Given the description of an element on the screen output the (x, y) to click on. 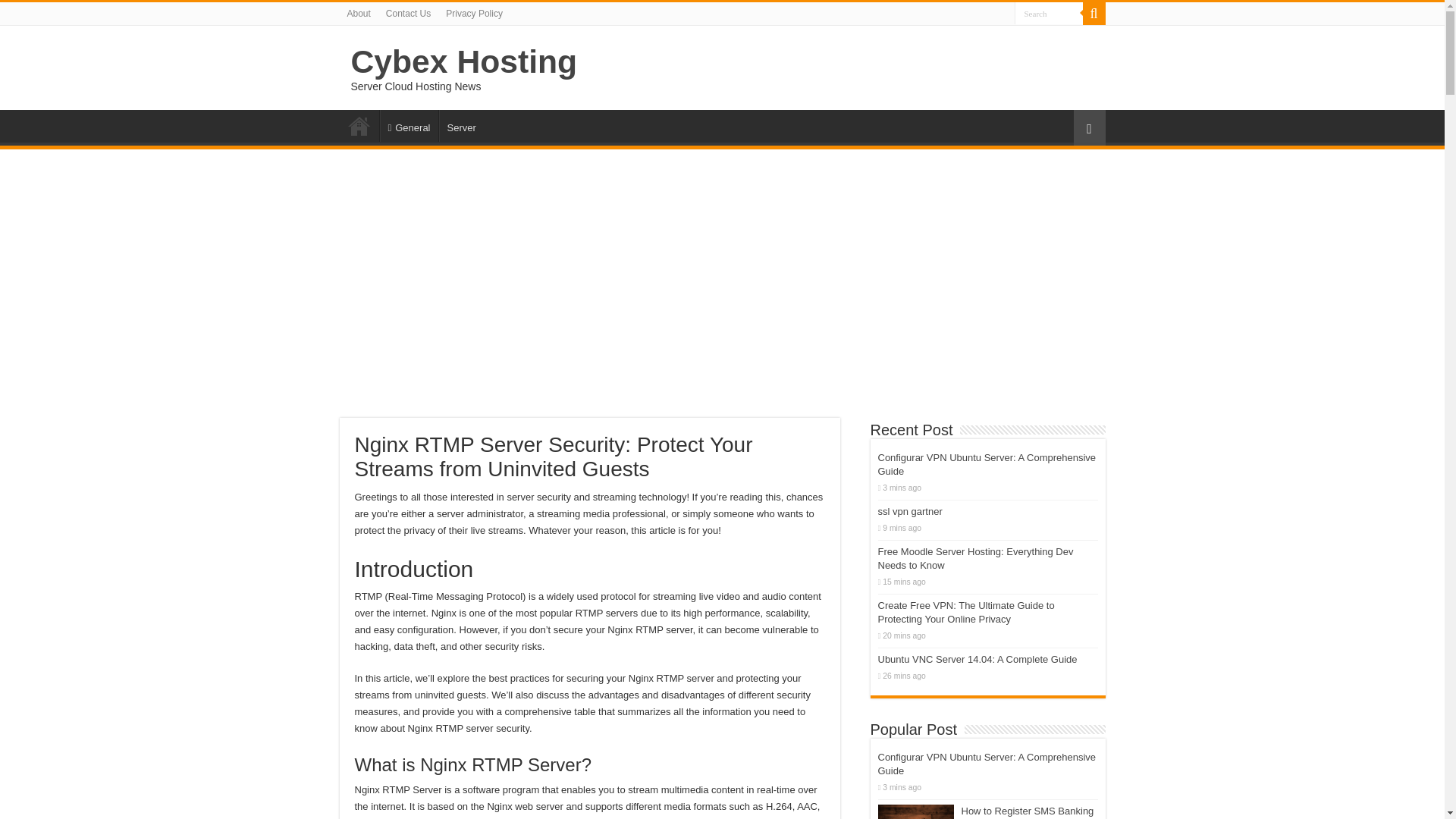
Server (460, 125)
How to Register SMS Banking BRI, Balance Check (915, 811)
Cybex Hosting (463, 61)
Search (1094, 13)
Search (1048, 13)
About (358, 13)
Search (1048, 13)
HOME (358, 125)
Contact Us (408, 13)
Search (1048, 13)
Privacy Policy (474, 13)
General (408, 125)
